Given the description of an element on the screen output the (x, y) to click on. 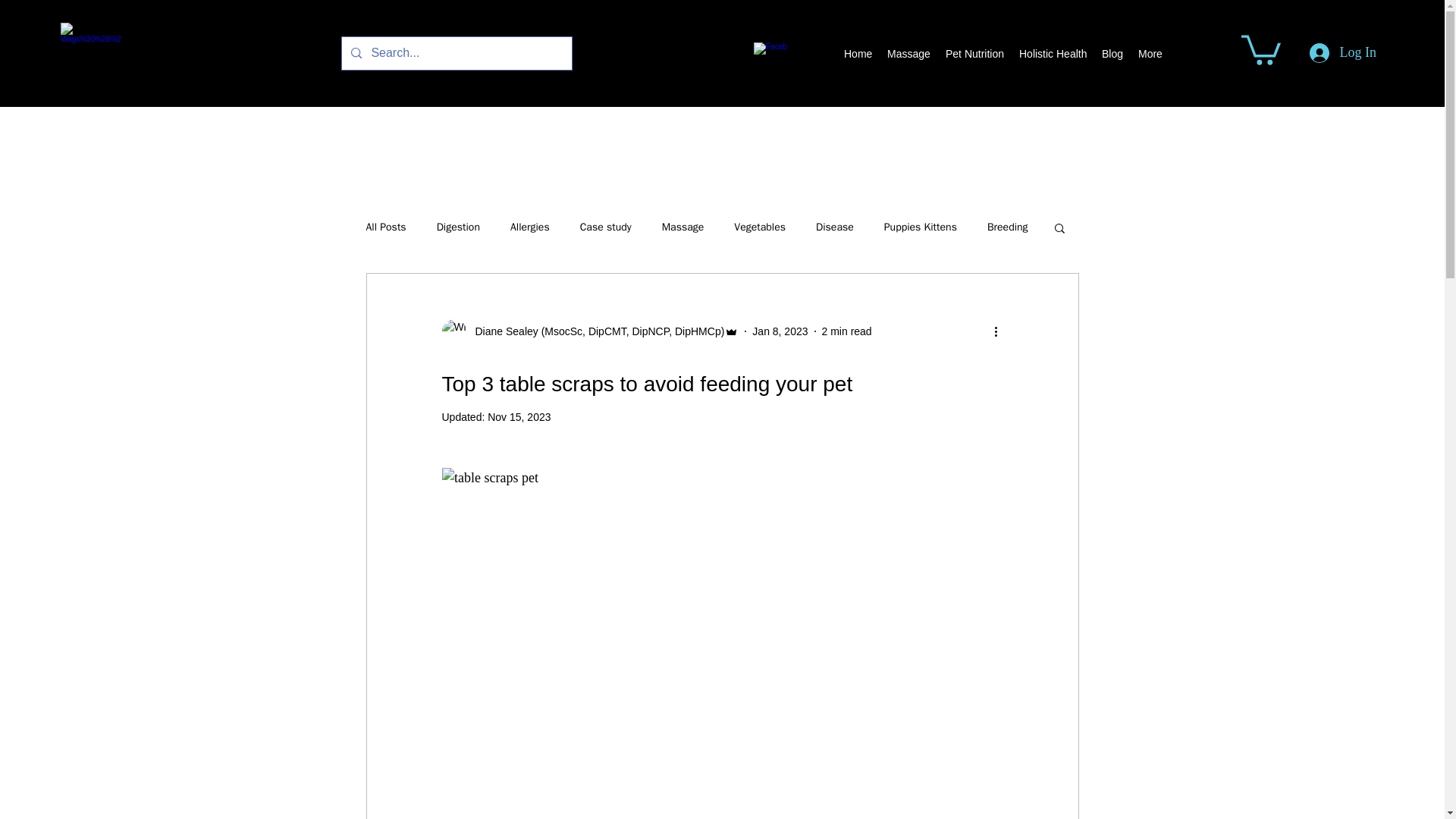
Puppies Kittens (919, 227)
Vegetables (759, 227)
Digestion (458, 227)
Massage (908, 53)
All Posts (385, 227)
Blog (1112, 53)
Nov 15, 2023 (518, 417)
Holistic Health (1052, 53)
Disease (834, 227)
Breeding (1007, 227)
